Given the description of an element on the screen output the (x, y) to click on. 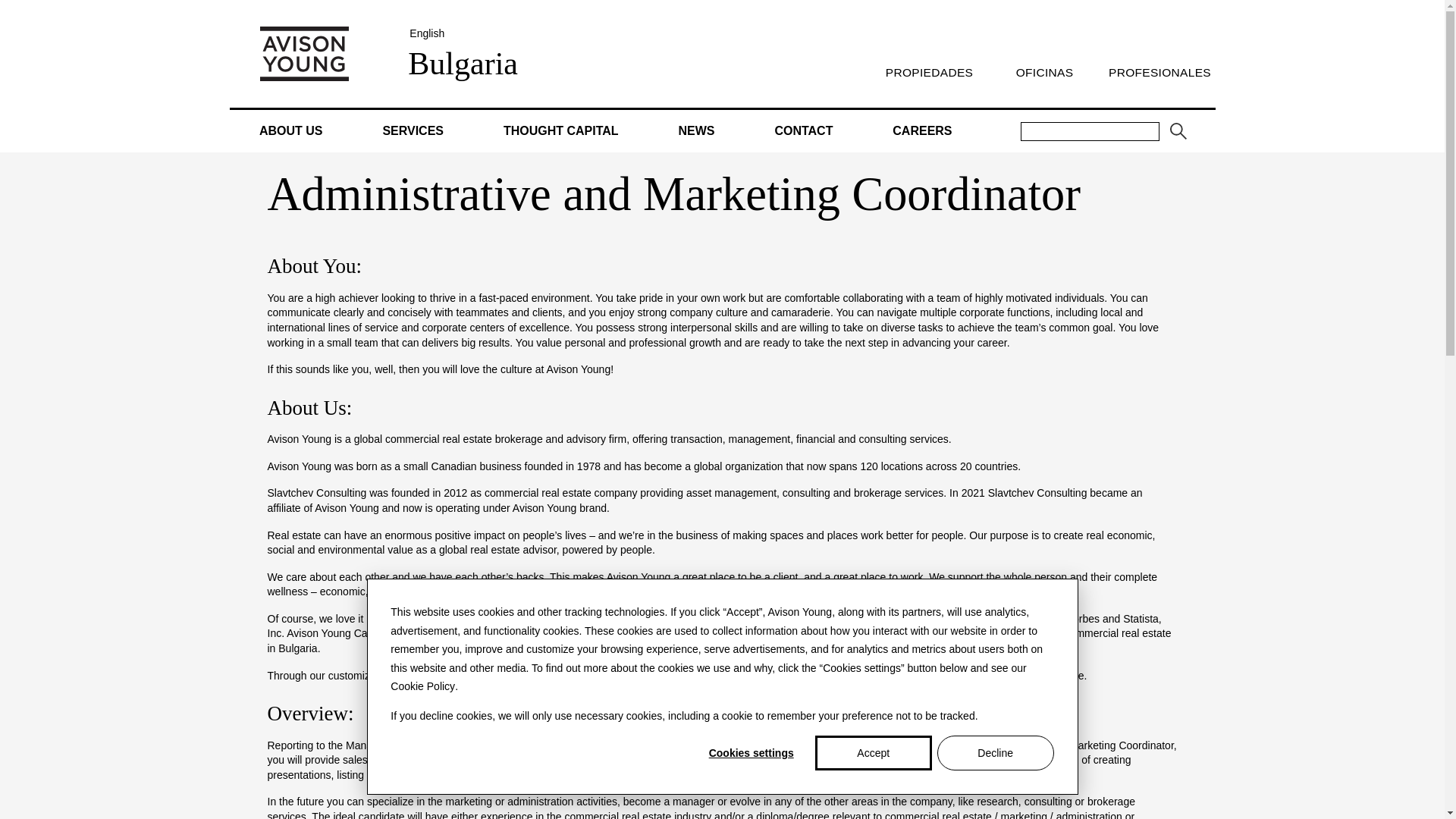
OFICINAS (1043, 72)
English (426, 33)
Skip to Main Content (5, 5)
PROPIEDADES (928, 72)
PROFESIONALES (1158, 72)
Bulgaria (462, 62)
